Given the description of an element on the screen output the (x, y) to click on. 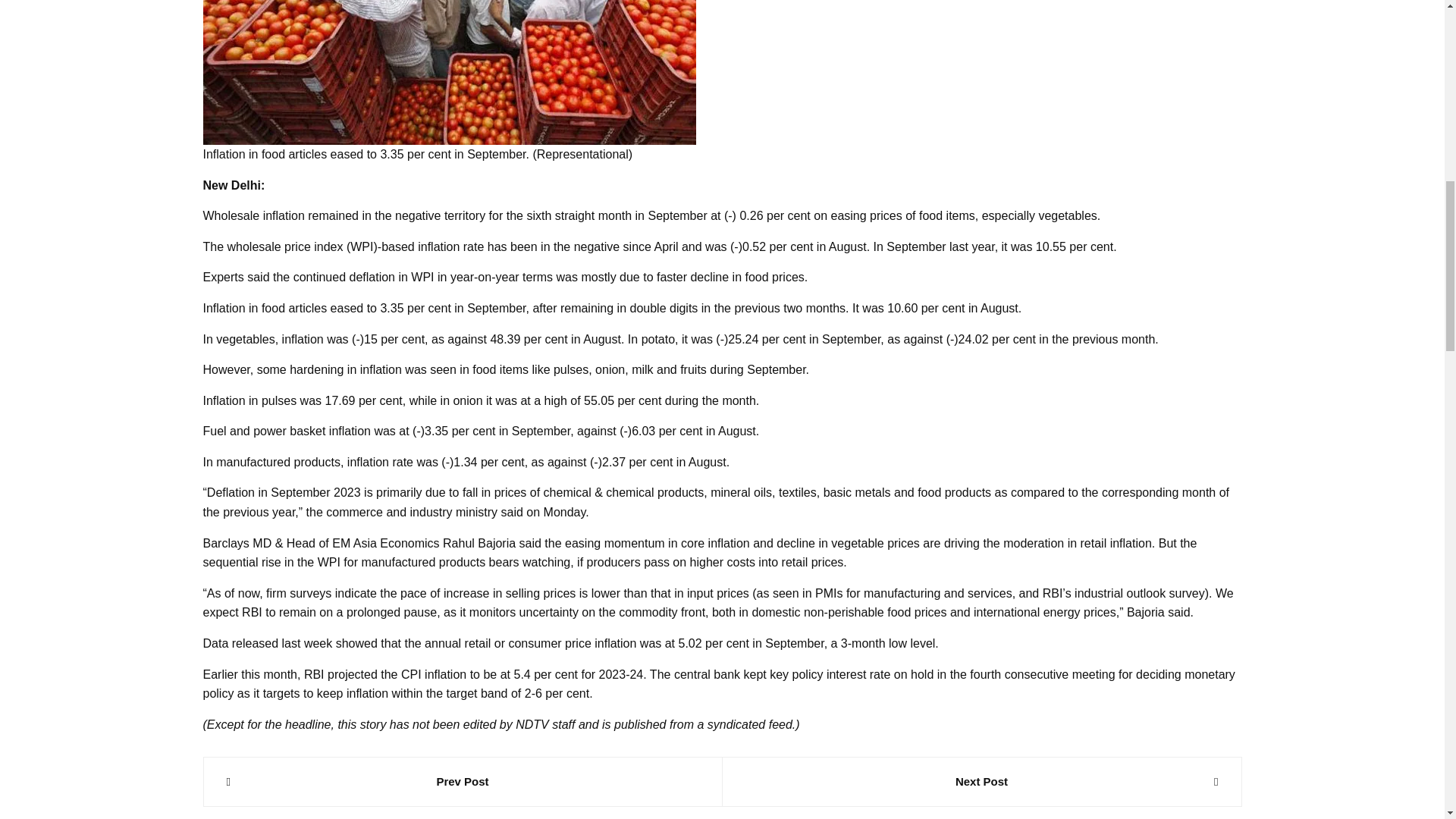
Next Post (980, 782)
Prev Post (461, 782)
